Given the description of an element on the screen output the (x, y) to click on. 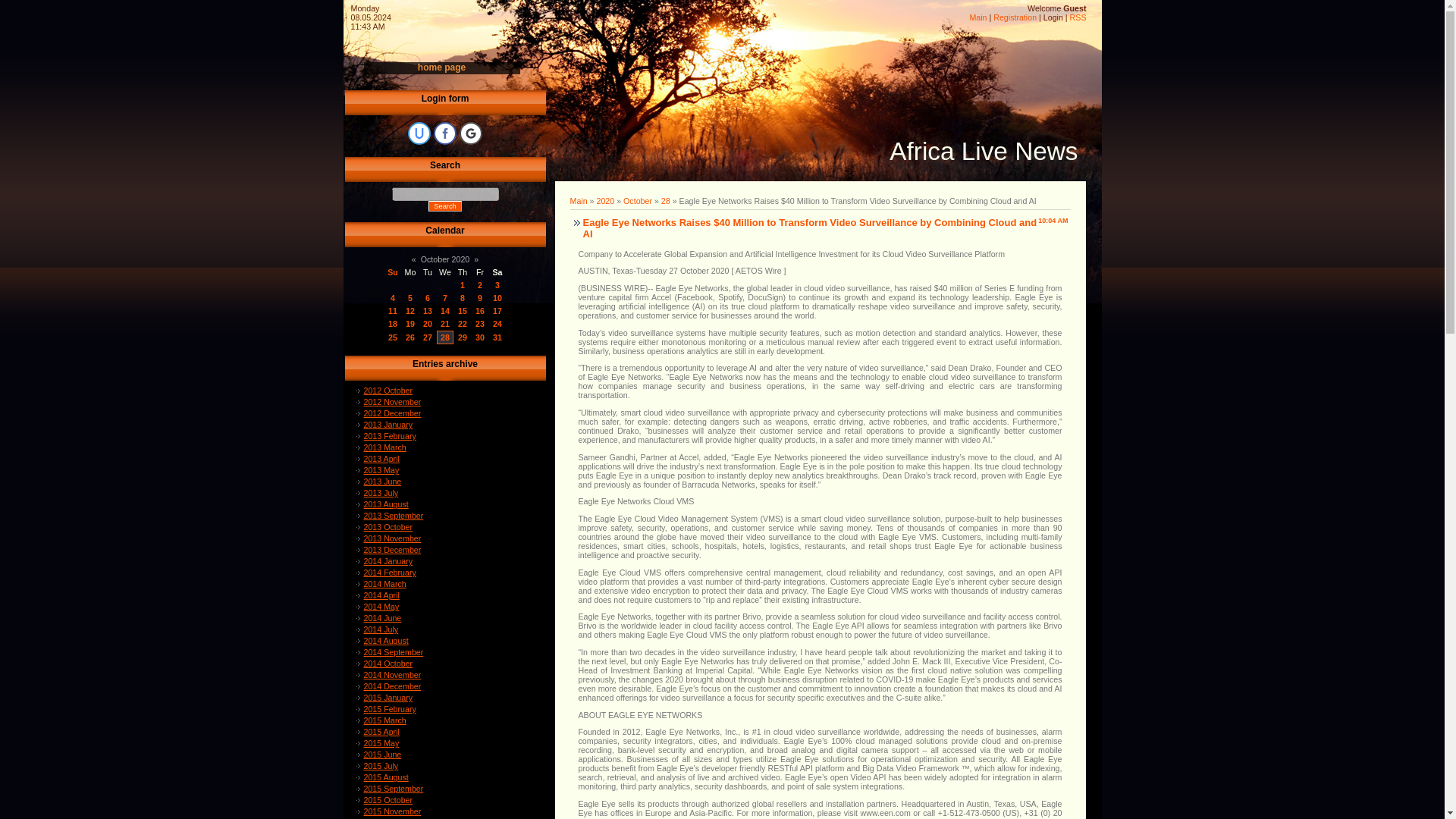
17 (497, 310)
21 (445, 323)
22 (462, 323)
Log in with Facebook (445, 133)
10 Messages (445, 310)
10 (497, 297)
1 Messages (410, 310)
26 (410, 337)
11 Messages (462, 310)
23 (480, 323)
